Given the description of an element on the screen output the (x, y) to click on. 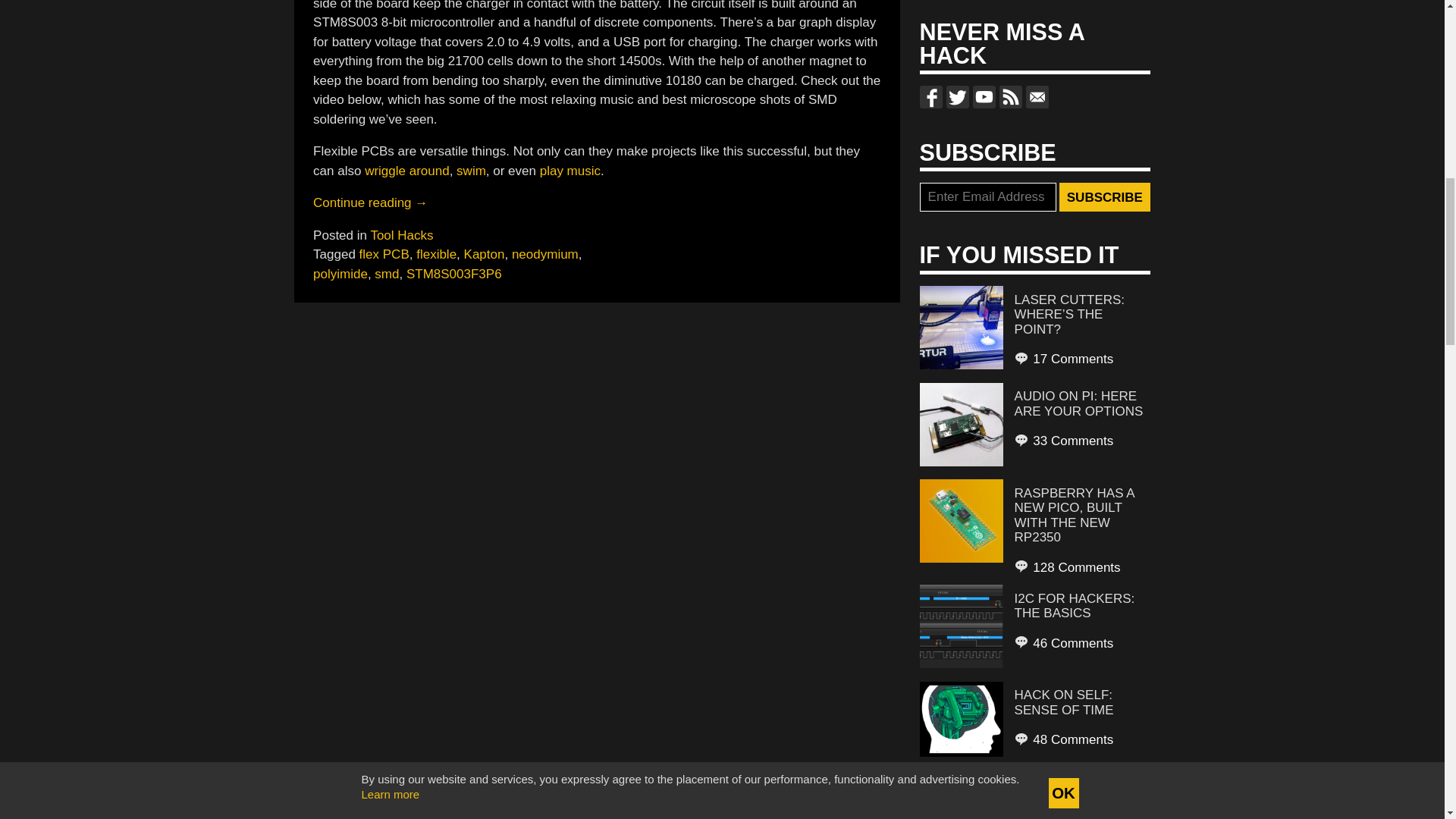
wriggle around (407, 170)
flexible (436, 254)
polyimide (340, 273)
neodymium (545, 254)
Subscribe (1104, 196)
Kapton (484, 254)
Tool Hacks (400, 235)
flex PCB (384, 254)
play music (569, 170)
swim (471, 170)
